Given the description of an element on the screen output the (x, y) to click on. 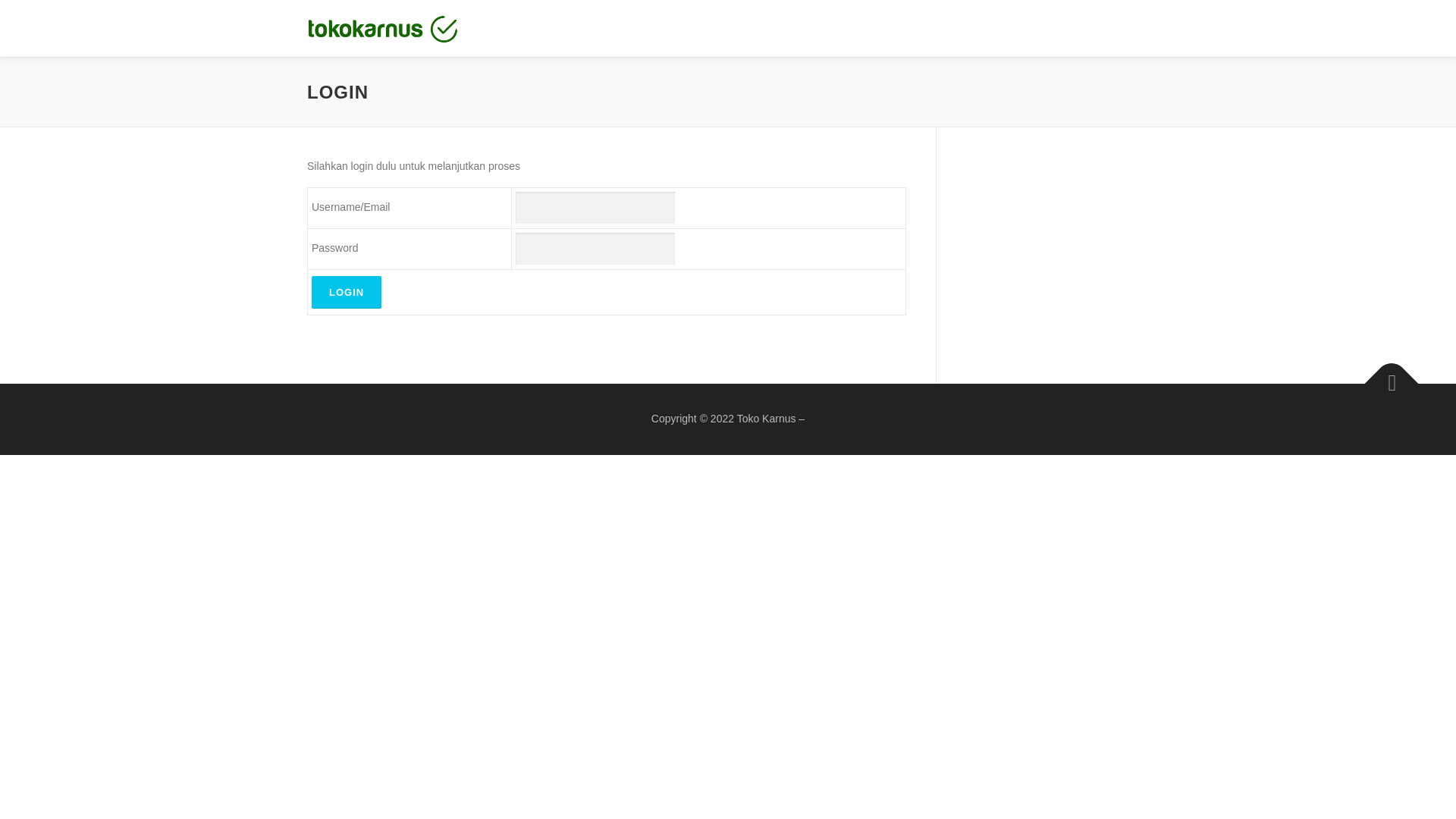
Back To Top (1384, 375)
Skip to content (34, 9)
Login (346, 292)
Login (346, 292)
